Given the description of an element on the screen output the (x, y) to click on. 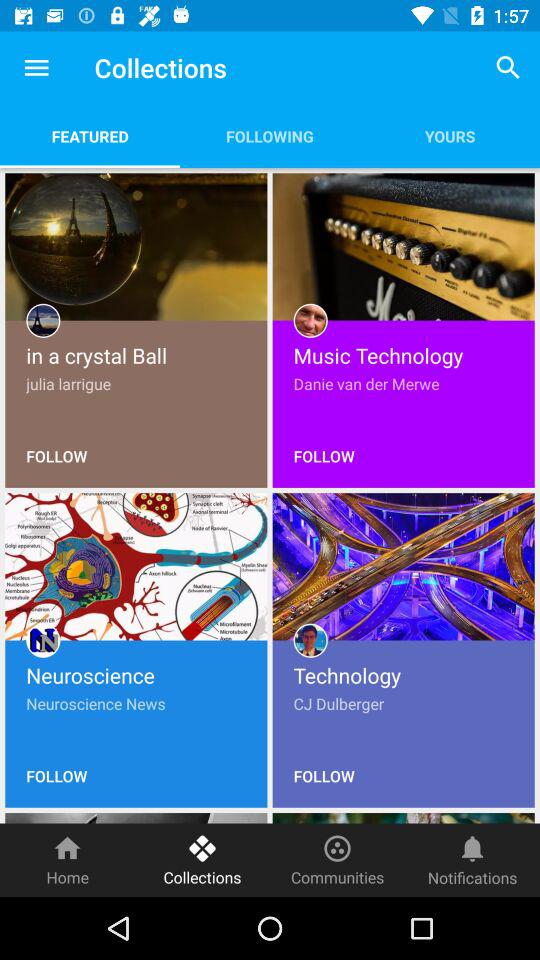
turn off icon to the right of the featured (270, 135)
